Given the description of an element on the screen output the (x, y) to click on. 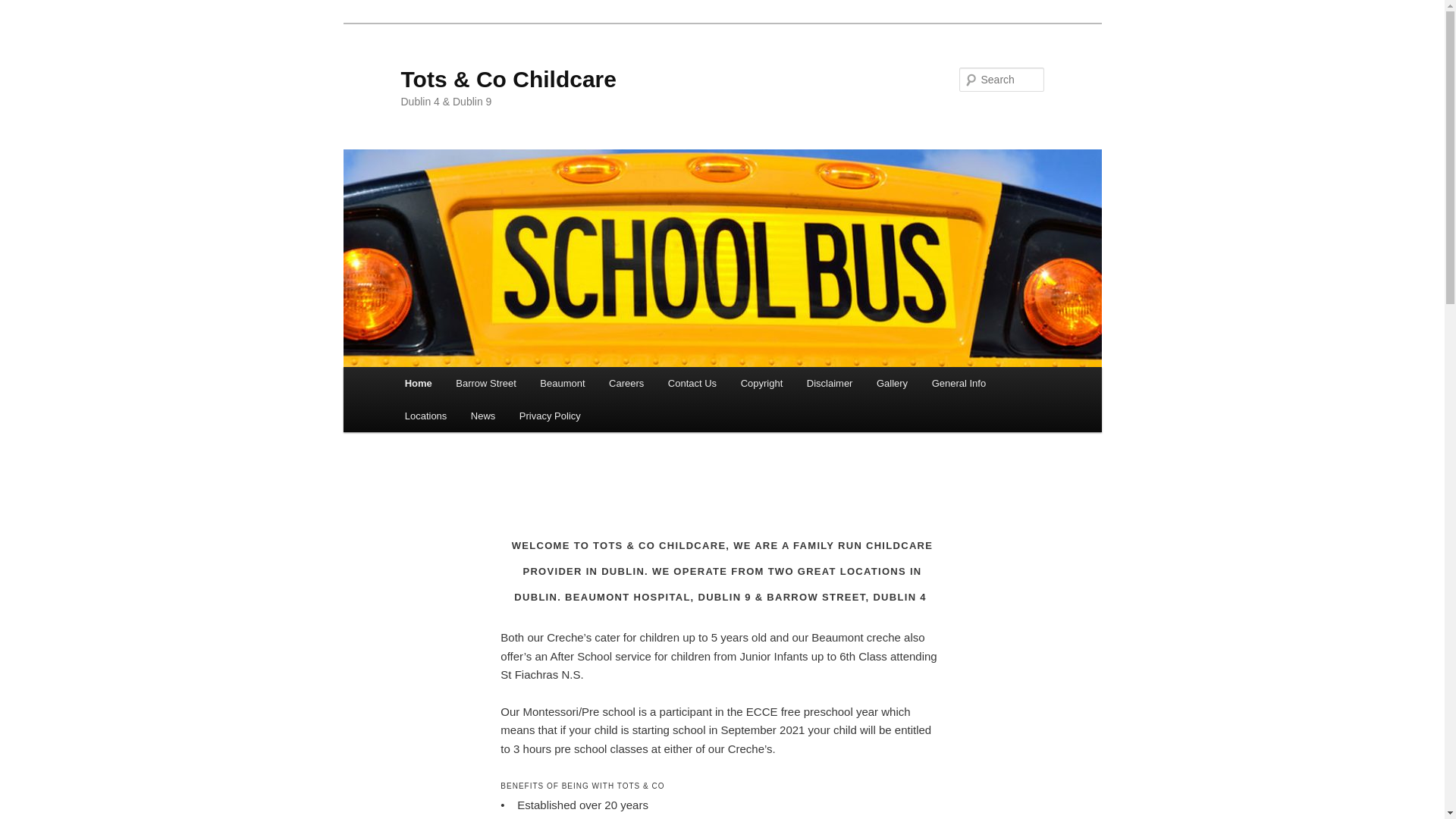
Copyright (761, 382)
Privacy Policy (549, 415)
Search (24, 8)
Gallery (892, 382)
Barrow Street (486, 382)
News (482, 415)
Disclaimer (829, 382)
Contact Us (692, 382)
Beaumont (562, 382)
Locations (425, 415)
